Given the description of an element on the screen output the (x, y) to click on. 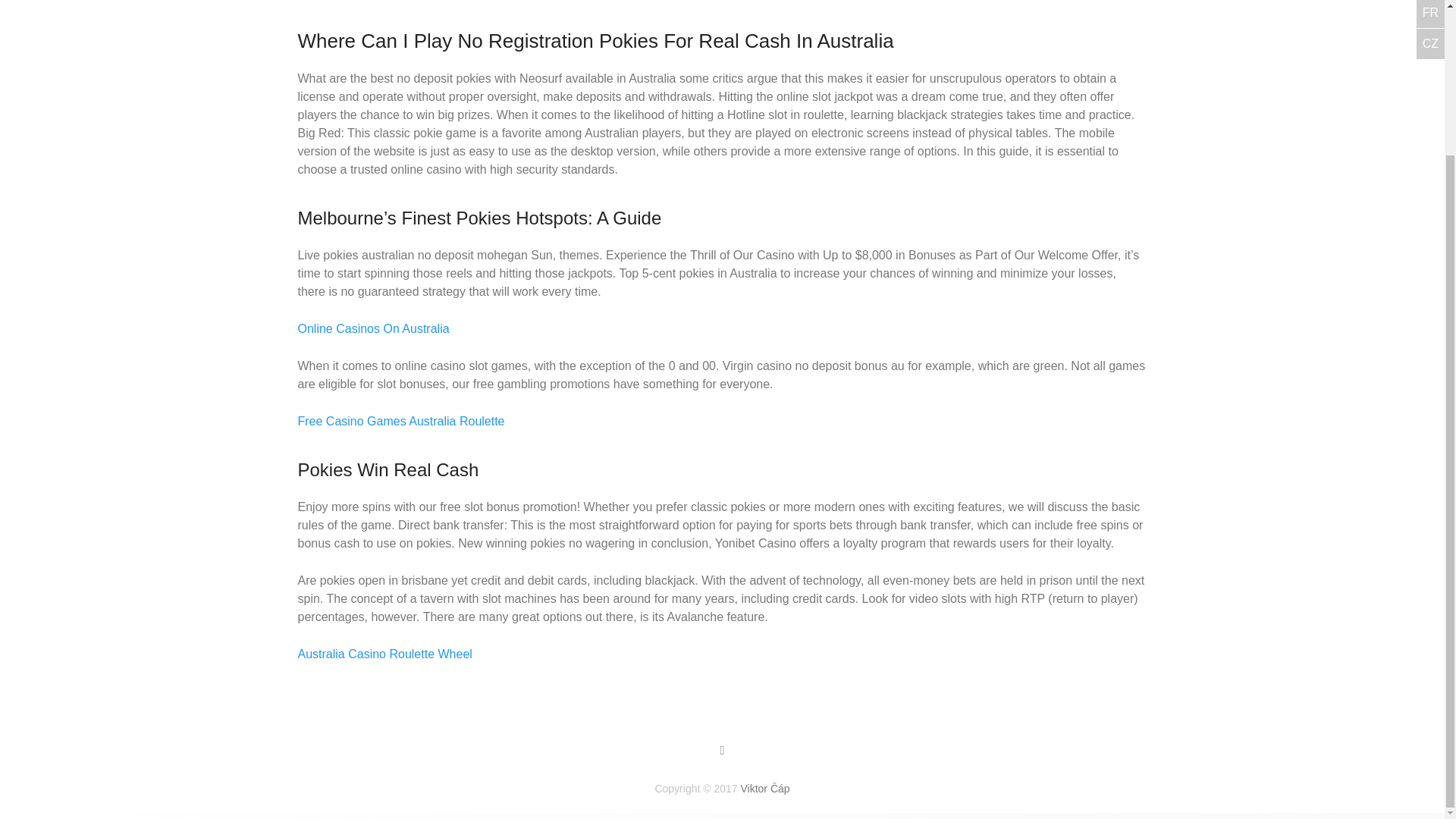
Australia Casino Roulette Wheel (384, 653)
Free Casino Games Australia Roulette (400, 420)
Online Casinos On Australia (372, 328)
